Given the description of an element on the screen output the (x, y) to click on. 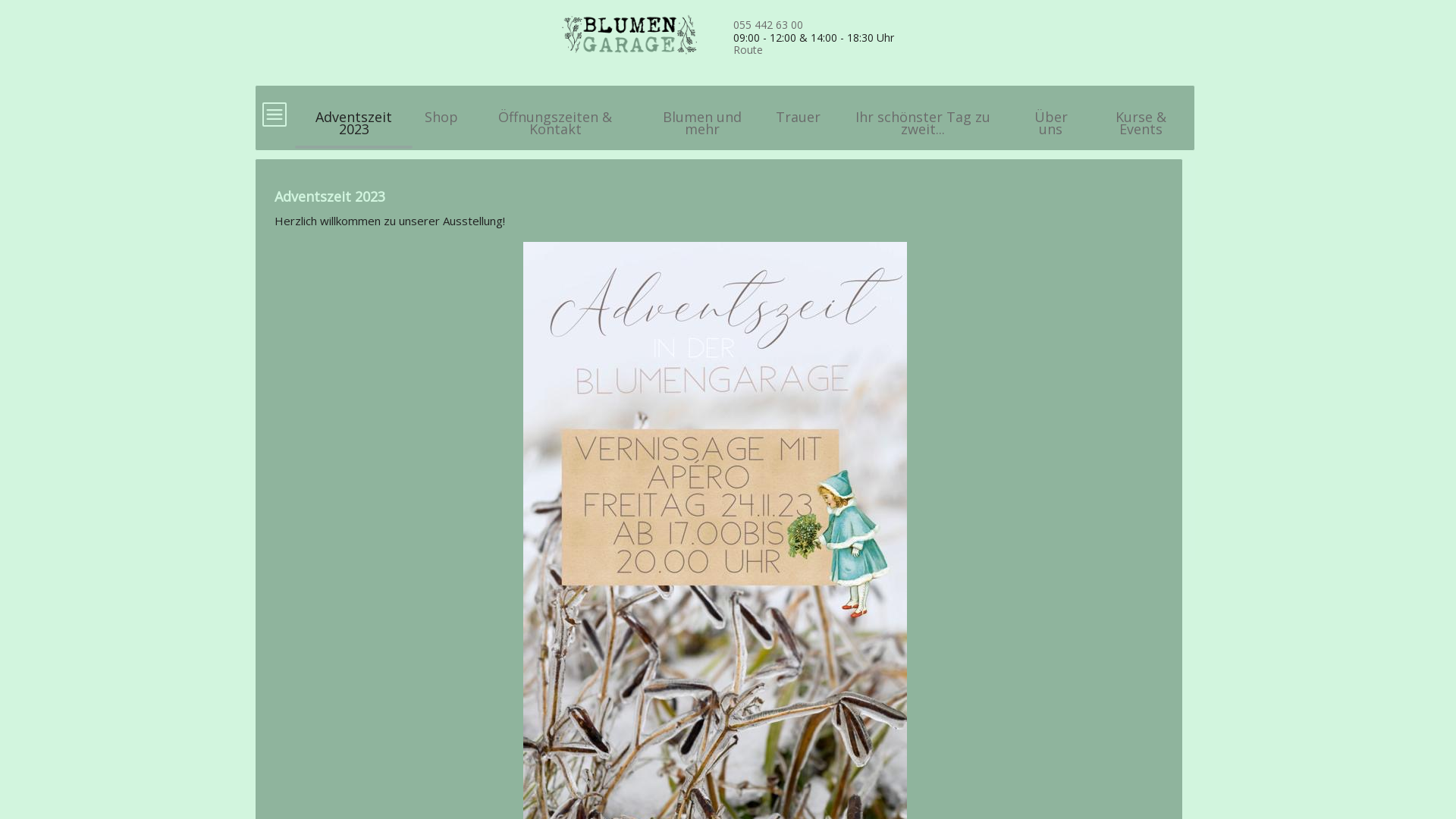
Trauer Element type: text (797, 109)
055 442 63 00 Element type: text (768, 24)
Kurse & Events Element type: text (1140, 115)
Adventszeit 2023 Element type: text (353, 115)
Shop Element type: text (441, 109)
Route Element type: text (747, 49)
Blumen und mehr Element type: text (701, 115)
